Given the description of an element on the screen output the (x, y) to click on. 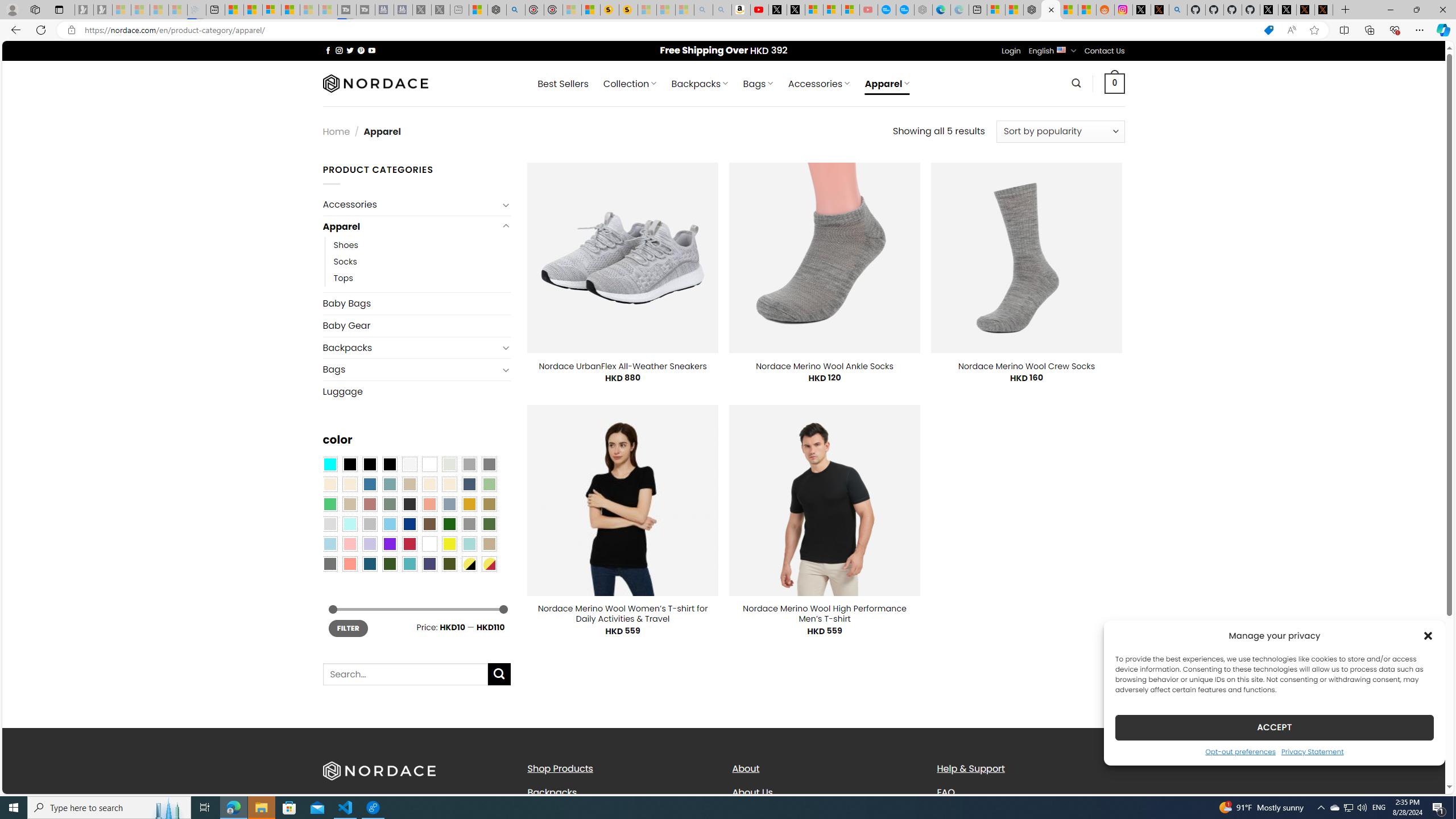
Silver (369, 523)
Aqua (468, 543)
Backpacks (620, 792)
Yellow-Black (468, 563)
Dusty Blue (449, 503)
Peach Pink (349, 563)
Baby Gear (416, 325)
Emerald Green (329, 503)
Tops (343, 278)
